Given the description of an element on the screen output the (x, y) to click on. 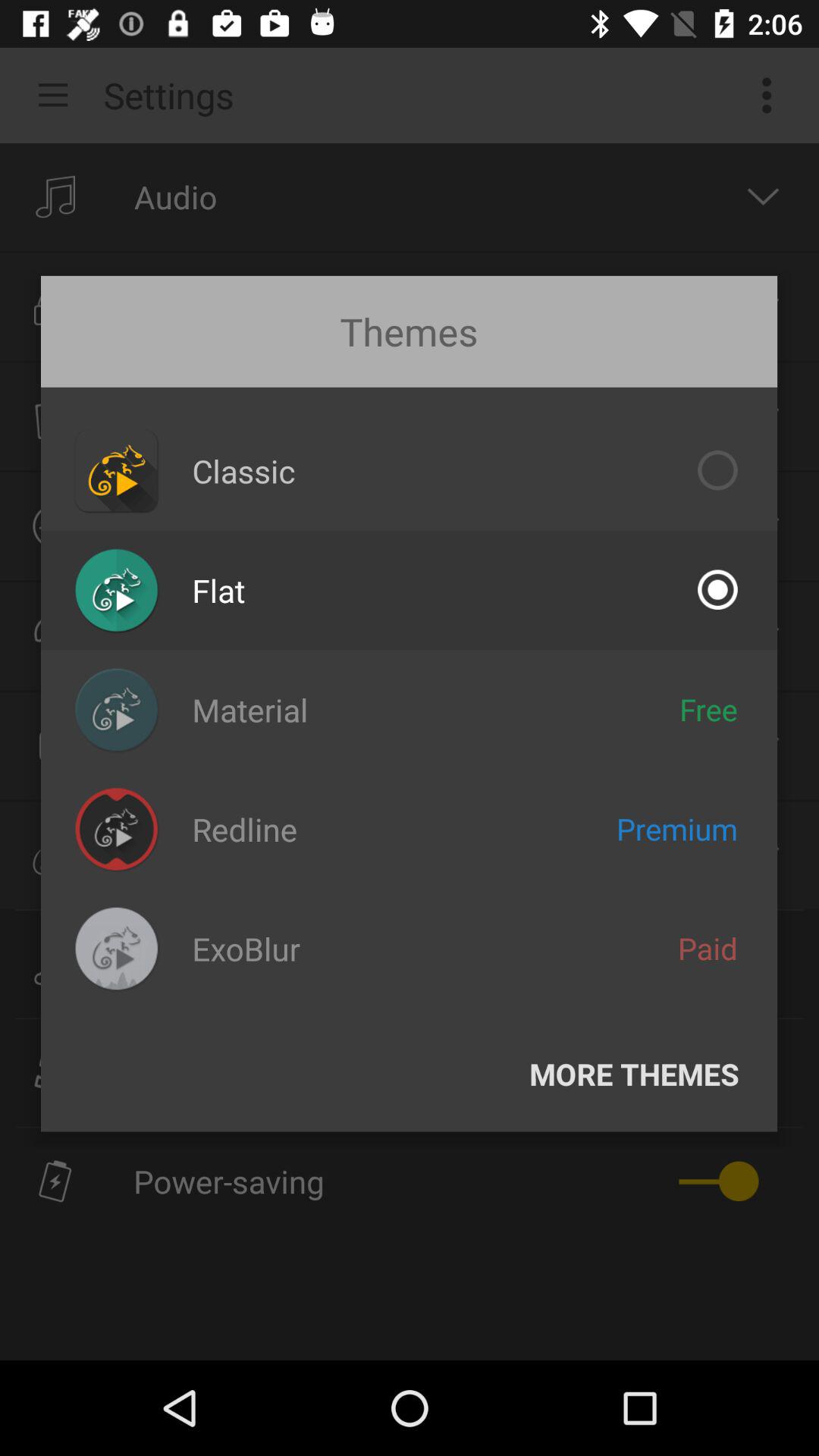
flip until the flat icon (218, 589)
